Given the description of an element on the screen output the (x, y) to click on. 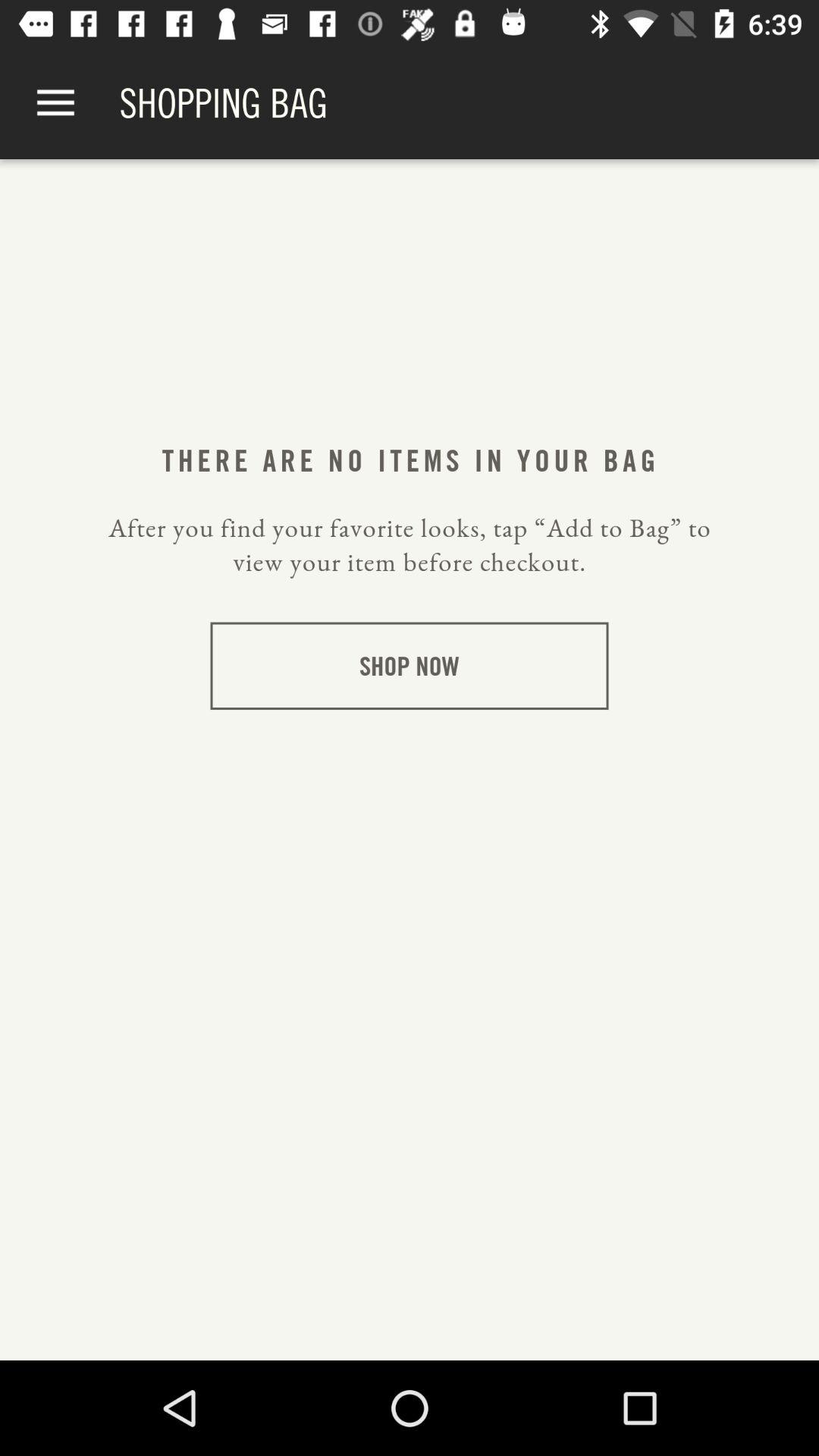
select the shop now (409, 665)
